Given the description of an element on the screen output the (x, y) to click on. 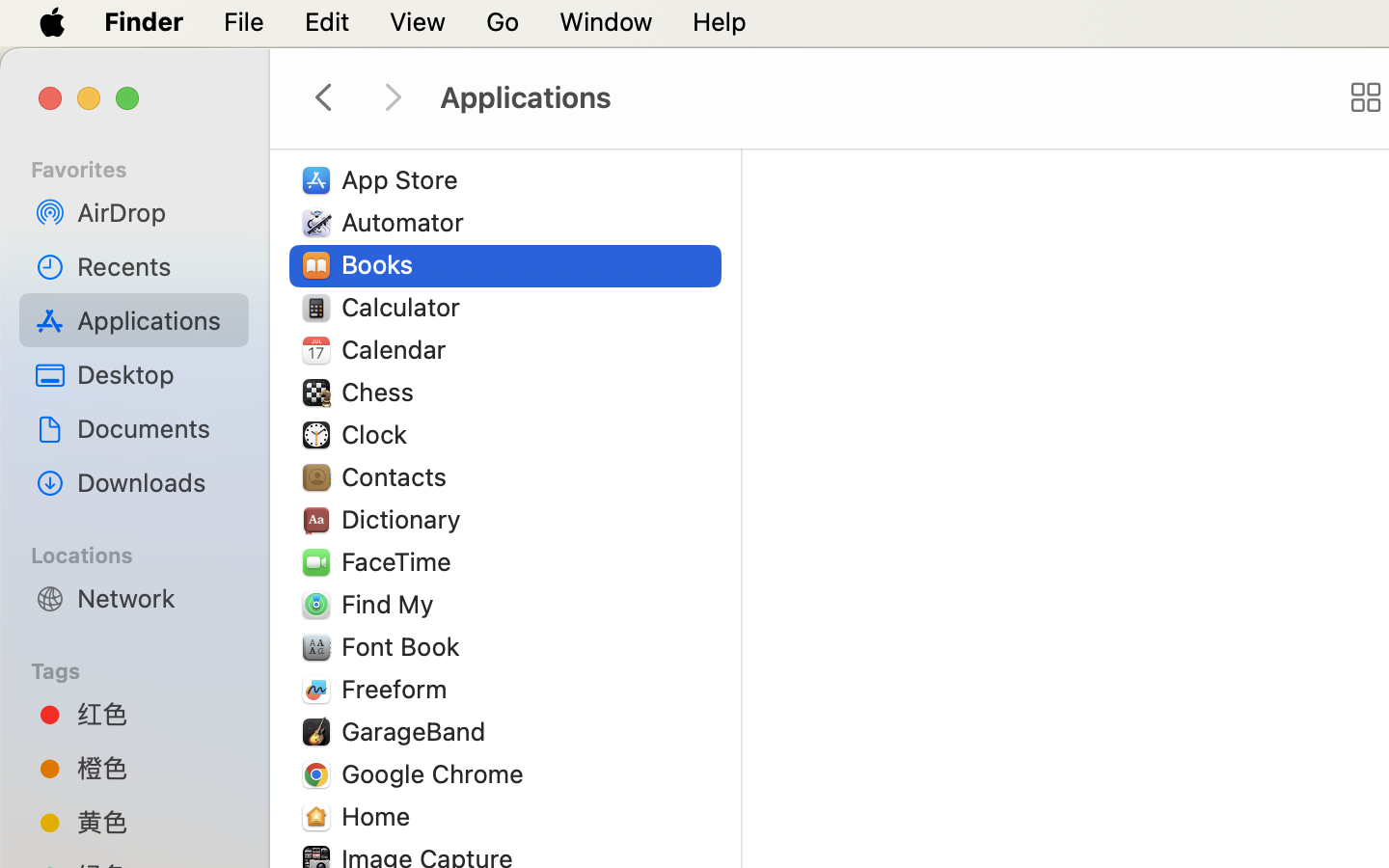
黄色 Element type: AXStaticText (155, 821)
AirDrop Element type: AXStaticText (155, 211)
红色 Element type: AXStaticText (155, 713)
Contacts Element type: AXTextField (398, 476)
Freeform Element type: AXTextField (398, 688)
